Given the description of an element on the screen output the (x, y) to click on. 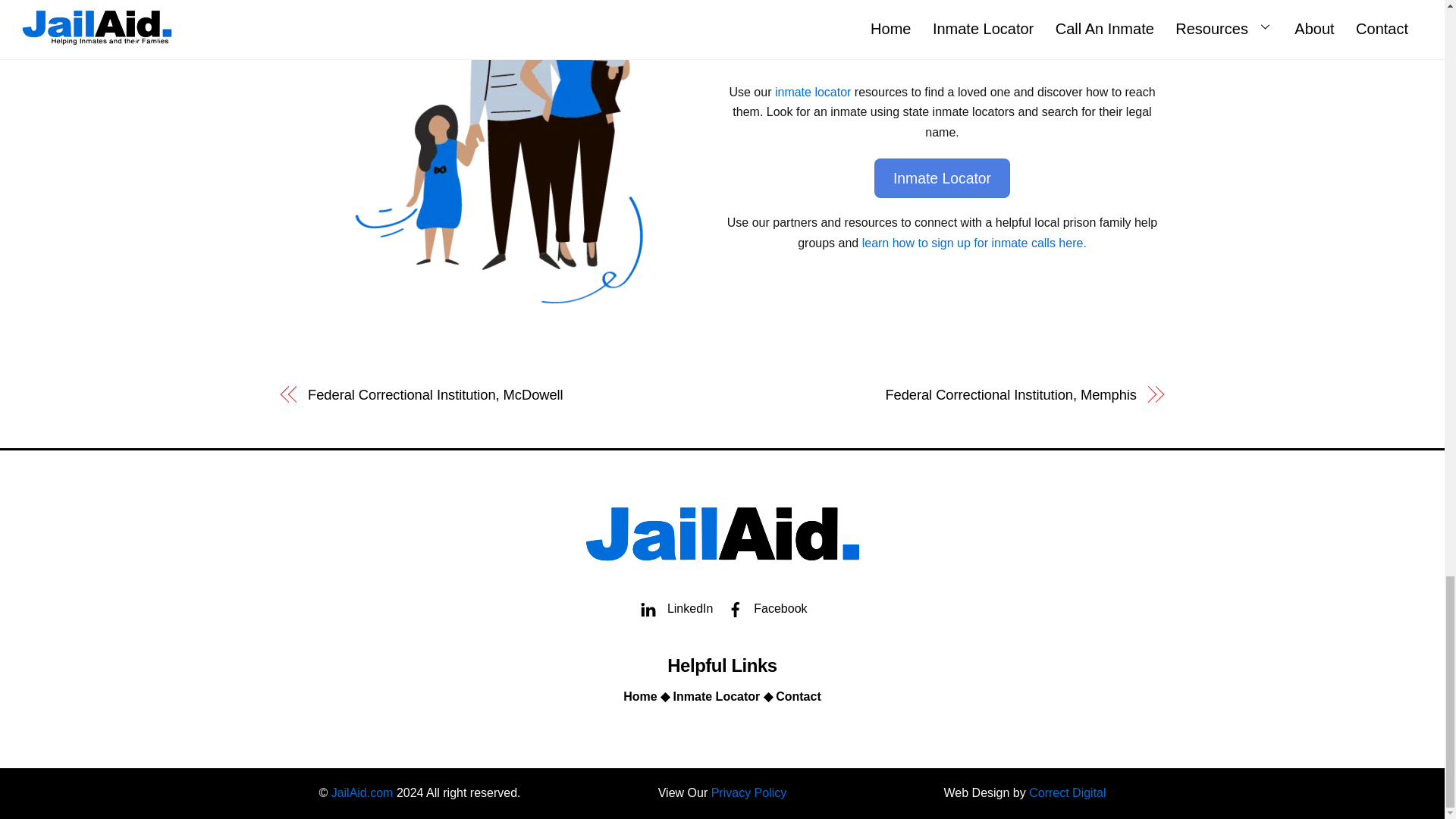
Federal Correctional Institution, McDowell (501, 394)
Correct Digital (1067, 792)
Inmate Locator (716, 696)
learn how to sign up for inmate calls here. (973, 242)
Contact (798, 696)
Facebook (764, 608)
inmate locator (812, 91)
JailAid Icon (722, 530)
Home (639, 696)
Jailaid header image (501, 151)
